Given the description of an element on the screen output the (x, y) to click on. 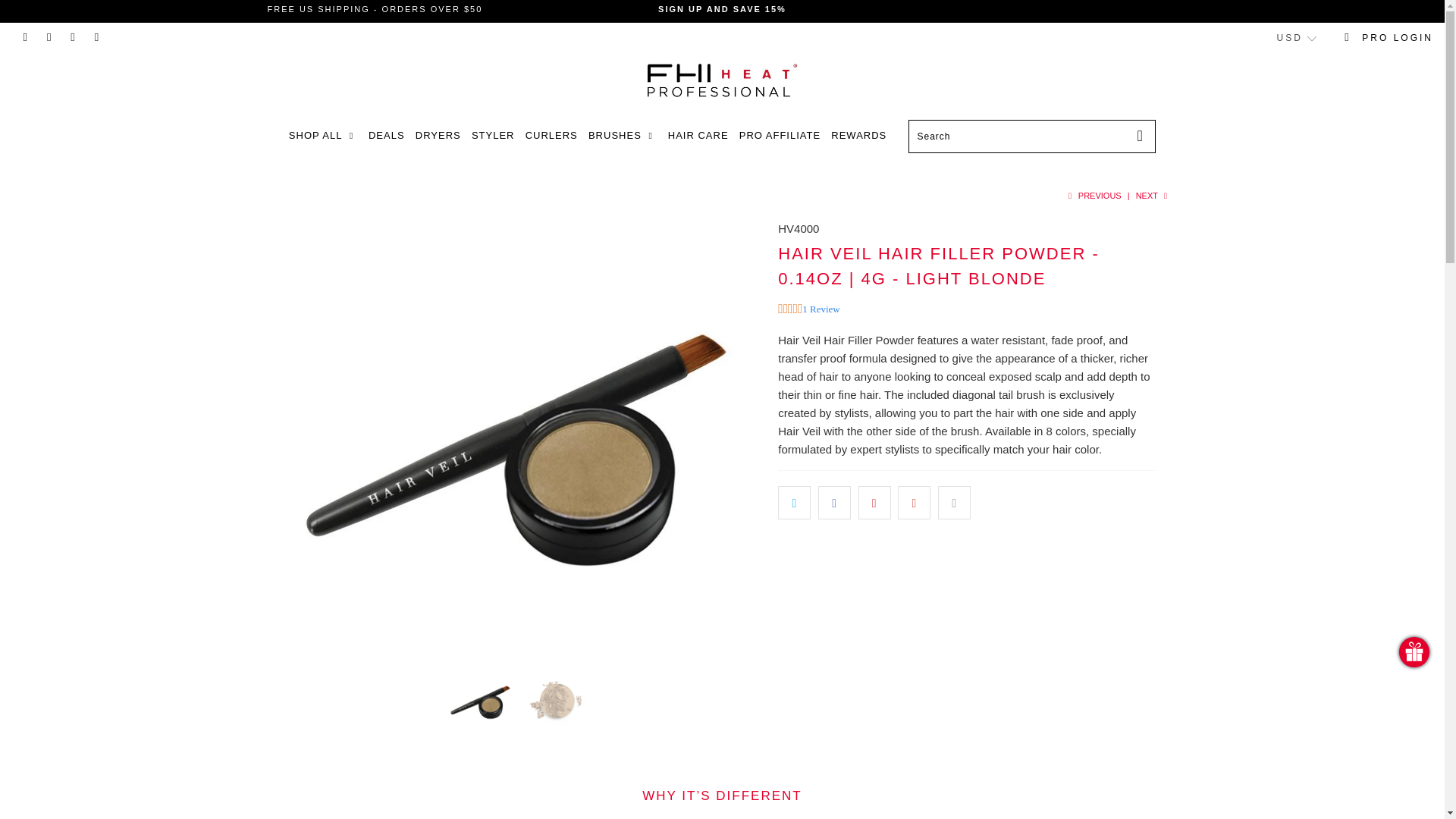
My Account  (1388, 37)
Previous (1092, 194)
Email FHI Heat Pro (96, 37)
FHI Heat Pro on Twitter (25, 37)
FHI Heat Pro on Facebook (48, 37)
Share this on Pinterest (875, 502)
Share this on Facebook (834, 502)
Email this to a friend (954, 502)
FHI Heat Pro on Instagram (73, 37)
Share this on Twitter (793, 502)
Next (1152, 194)
